Given the description of an element on the screen output the (x, y) to click on. 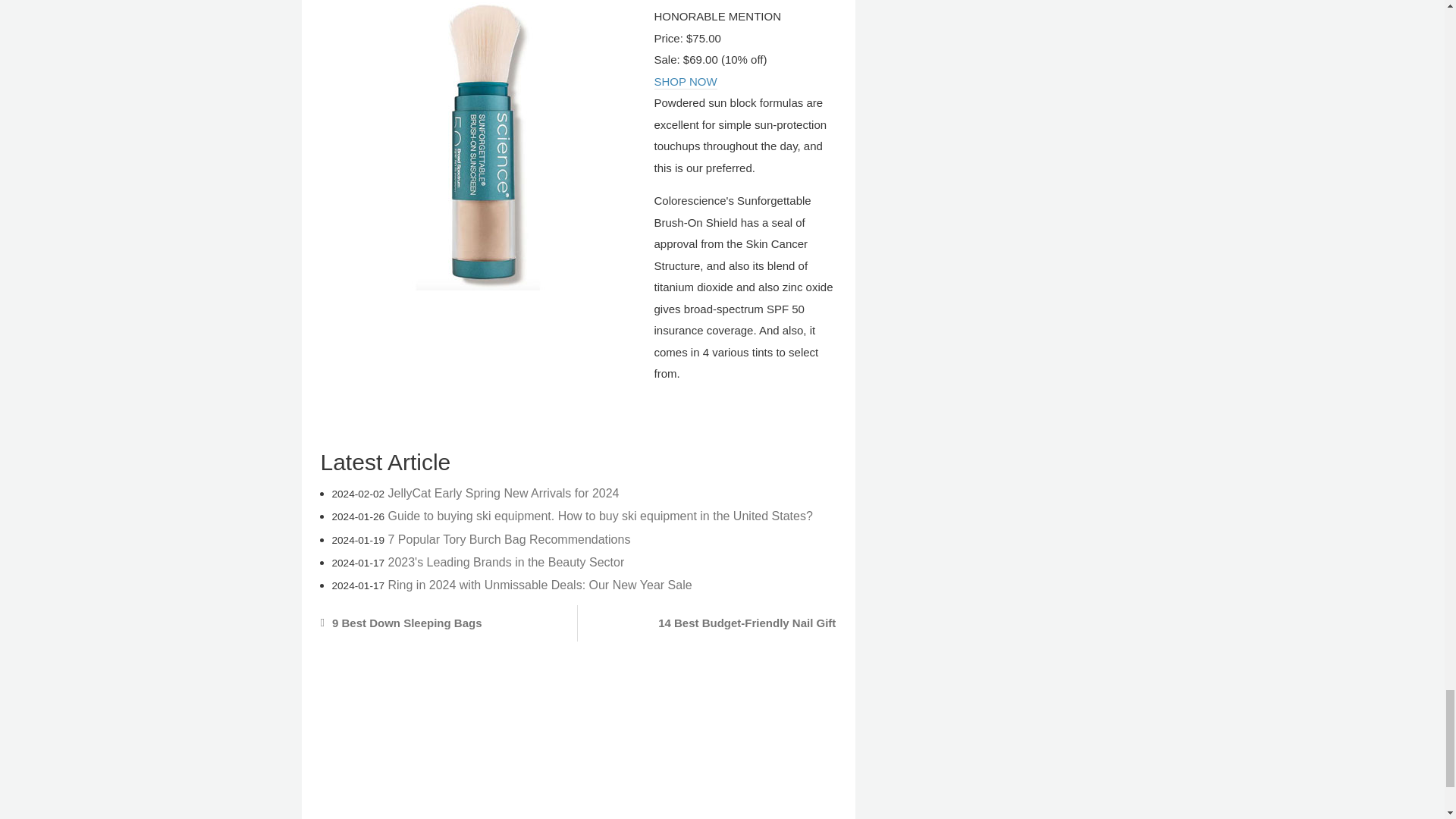
SHOP NOW (684, 82)
7 Popular Tory Burch Bag Recommendations (509, 539)
2023's Leading Brands in the Beauty Sector (506, 562)
JellyCat Early Spring New Arrivals for 2024 (504, 492)
SHOP NOW (684, 82)
14 Best Budget-Friendly Nail Gift (716, 623)
2023's Leading Brands in the Beauty Sector (506, 562)
7 Popular Tory Burch Bag Recommendations (509, 539)
Ring in 2024 with Unmissable Deals: Our New Year Sale (540, 584)
Ring in 2024 with Unmissable Deals: Our New Year Sale (540, 584)
JellyCat Early Spring New Arrivals for 2024 (504, 492)
9 Best Down Sleeping Bags (439, 623)
